Given the description of an element on the screen output the (x, y) to click on. 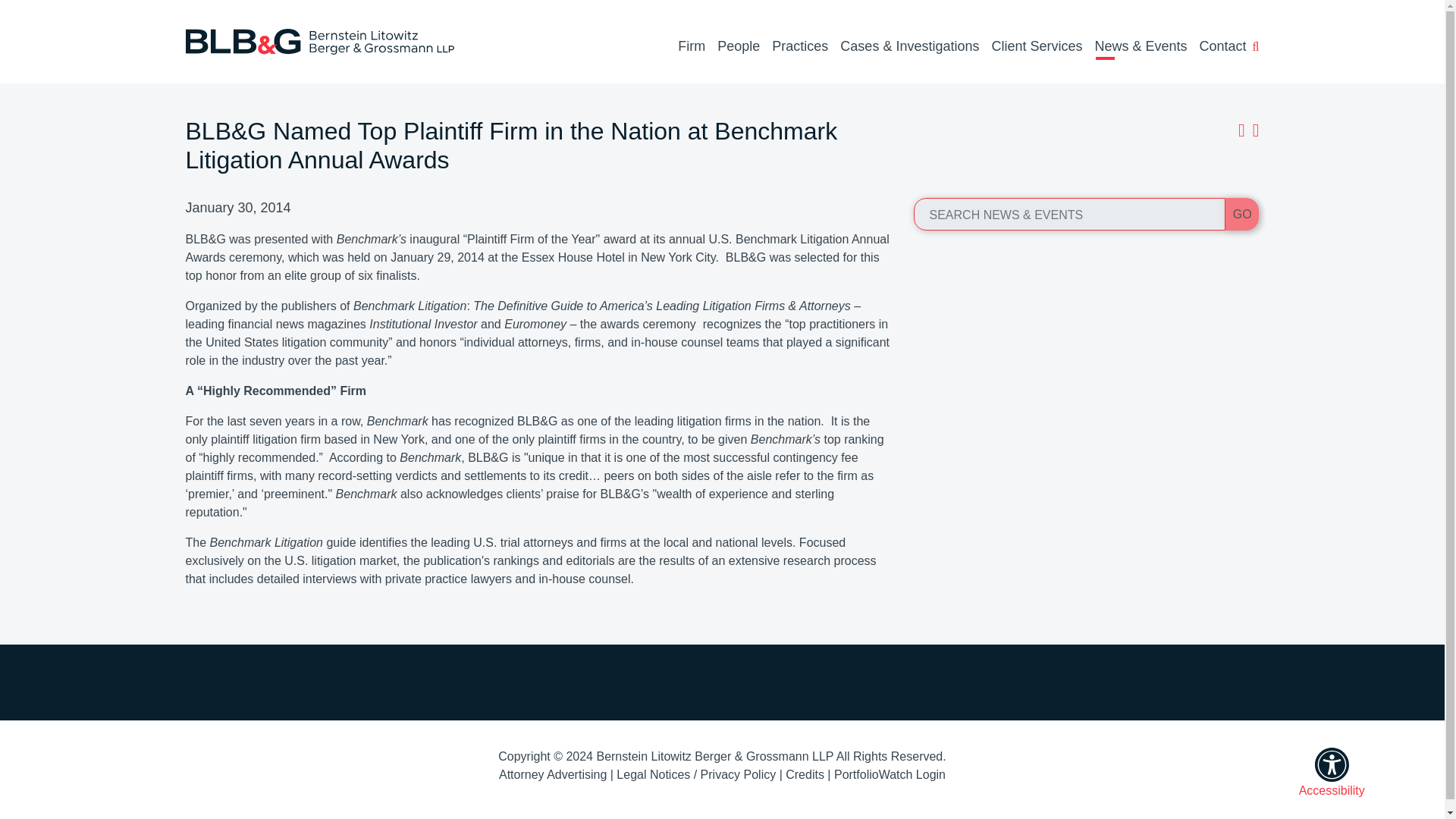
Firm (691, 47)
Practices (799, 47)
Contact (1222, 47)
Client Services (1036, 47)
People (738, 47)
